Given the description of an element on the screen output the (x, y) to click on. 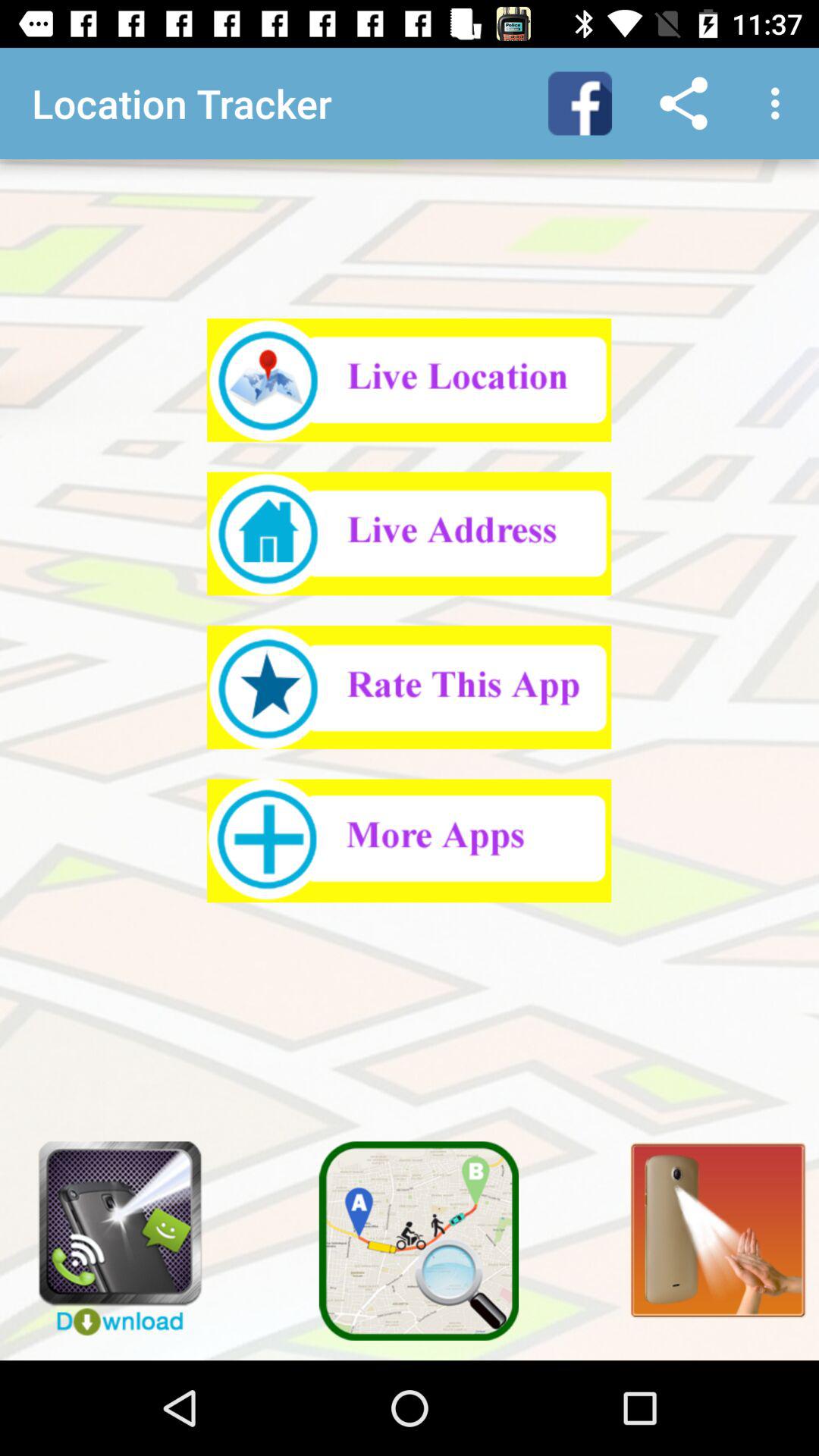
go to facebook (579, 103)
